Given the description of an element on the screen output the (x, y) to click on. 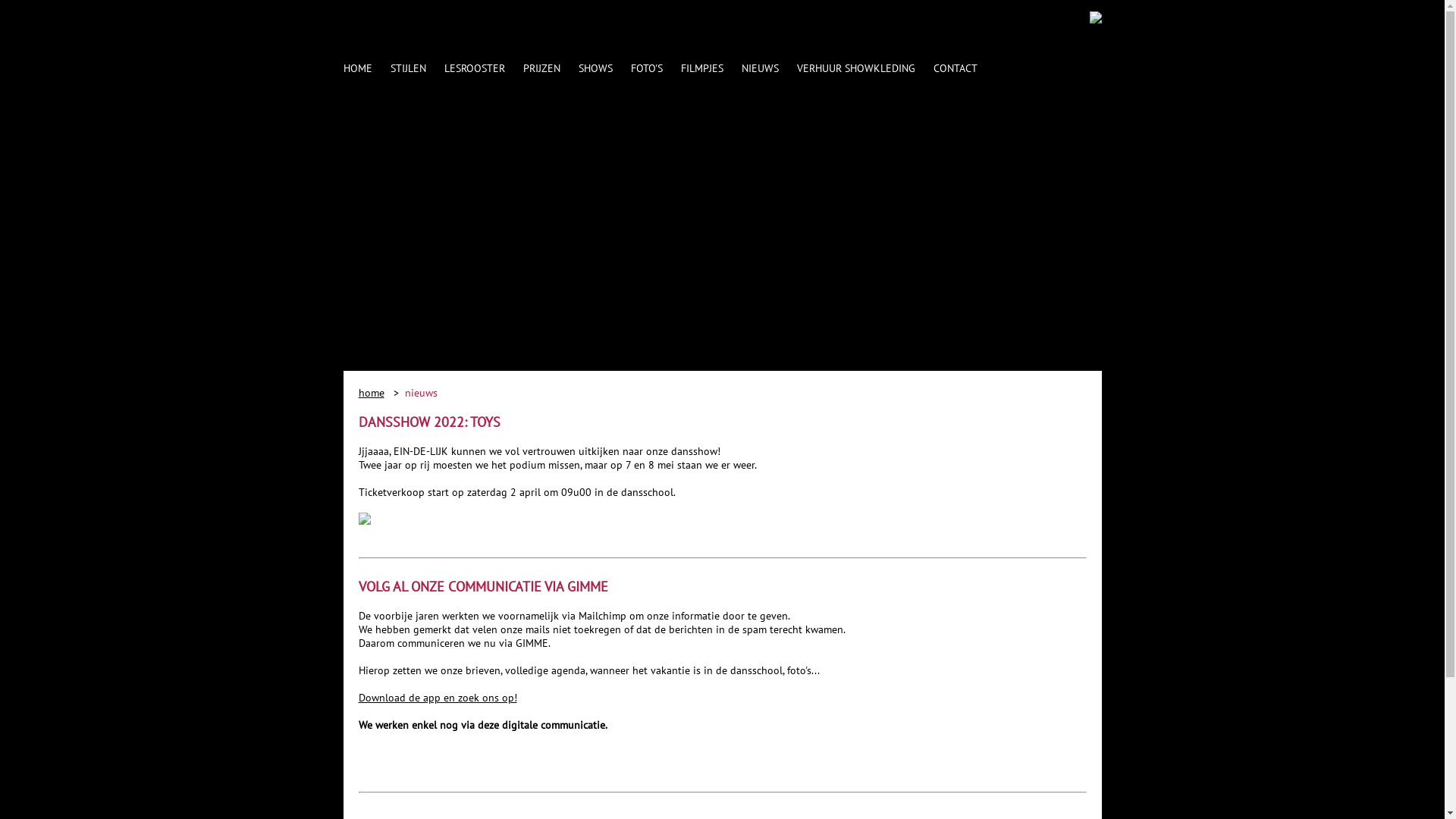
SHOWS Element type: text (594, 68)
STIJLEN Element type: text (407, 68)
NIEUWS Element type: text (759, 68)
PRIJZEN Element type: text (541, 68)
home Element type: text (370, 392)
VERHUUR SHOWKLEDING Element type: text (855, 68)
Download de app en zoek ons op! Element type: text (436, 697)
FILMPJES Element type: text (701, 68)
CONTACT Element type: text (954, 68)
HOME Element type: text (356, 68)
FOTO'S Element type: text (646, 68)
LESROOSTER Element type: text (474, 68)
